Given the description of an element on the screen output the (x, y) to click on. 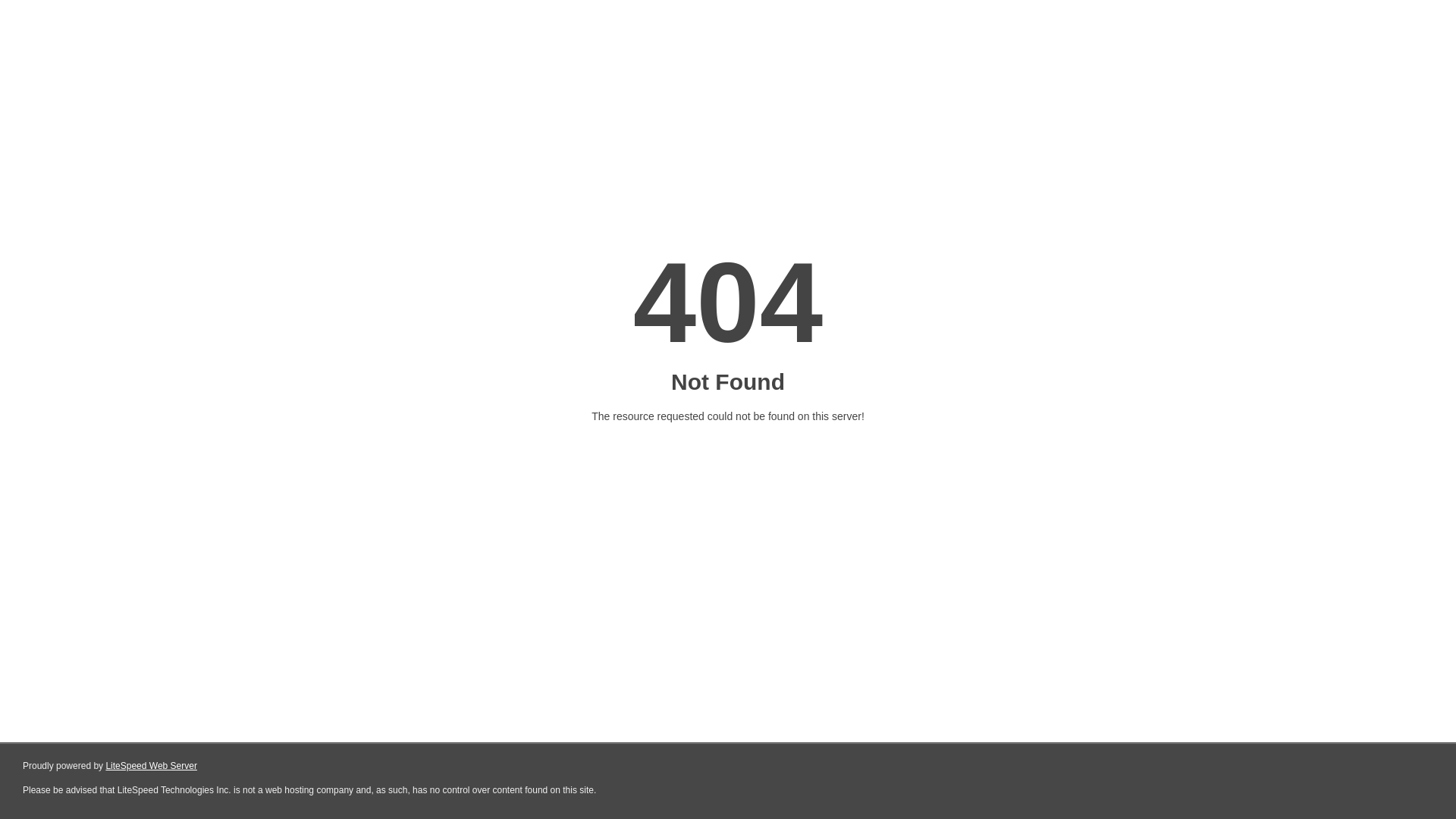
LiteSpeed Web Server Element type: text (151, 765)
